Given the description of an element on the screen output the (x, y) to click on. 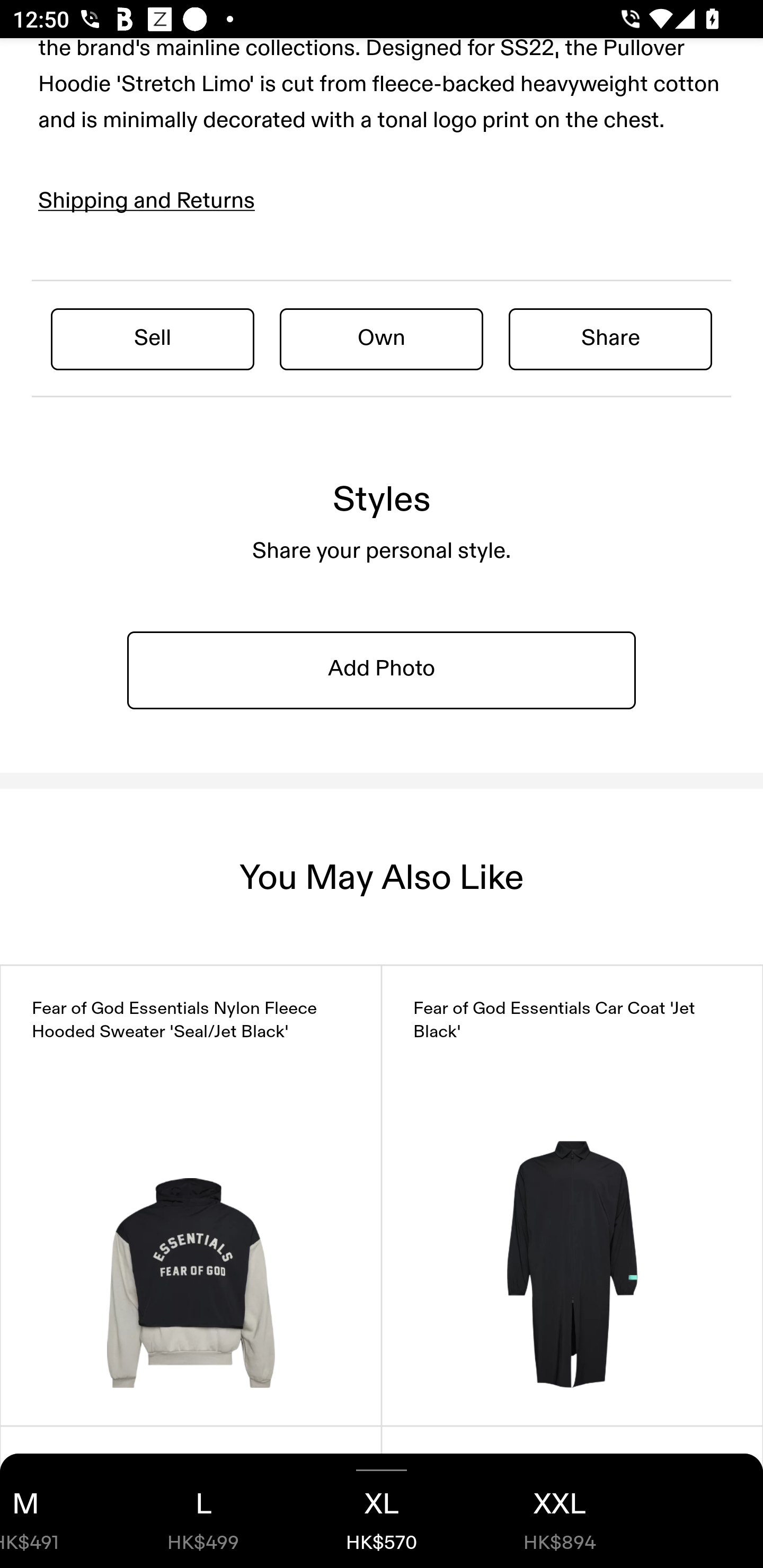
Shipping and Returns (146, 201)
Sell (152, 338)
Own (381, 338)
Share (609, 338)
Add Photo (381, 669)
Fear of God Essentials Car Coat 'Jet Black' (572, 1195)
M HK$491 (57, 1510)
L HK$499 (203, 1510)
XL HK$570 (381, 1510)
XXL HK$894 (559, 1510)
